Given the description of an element on the screen output the (x, y) to click on. 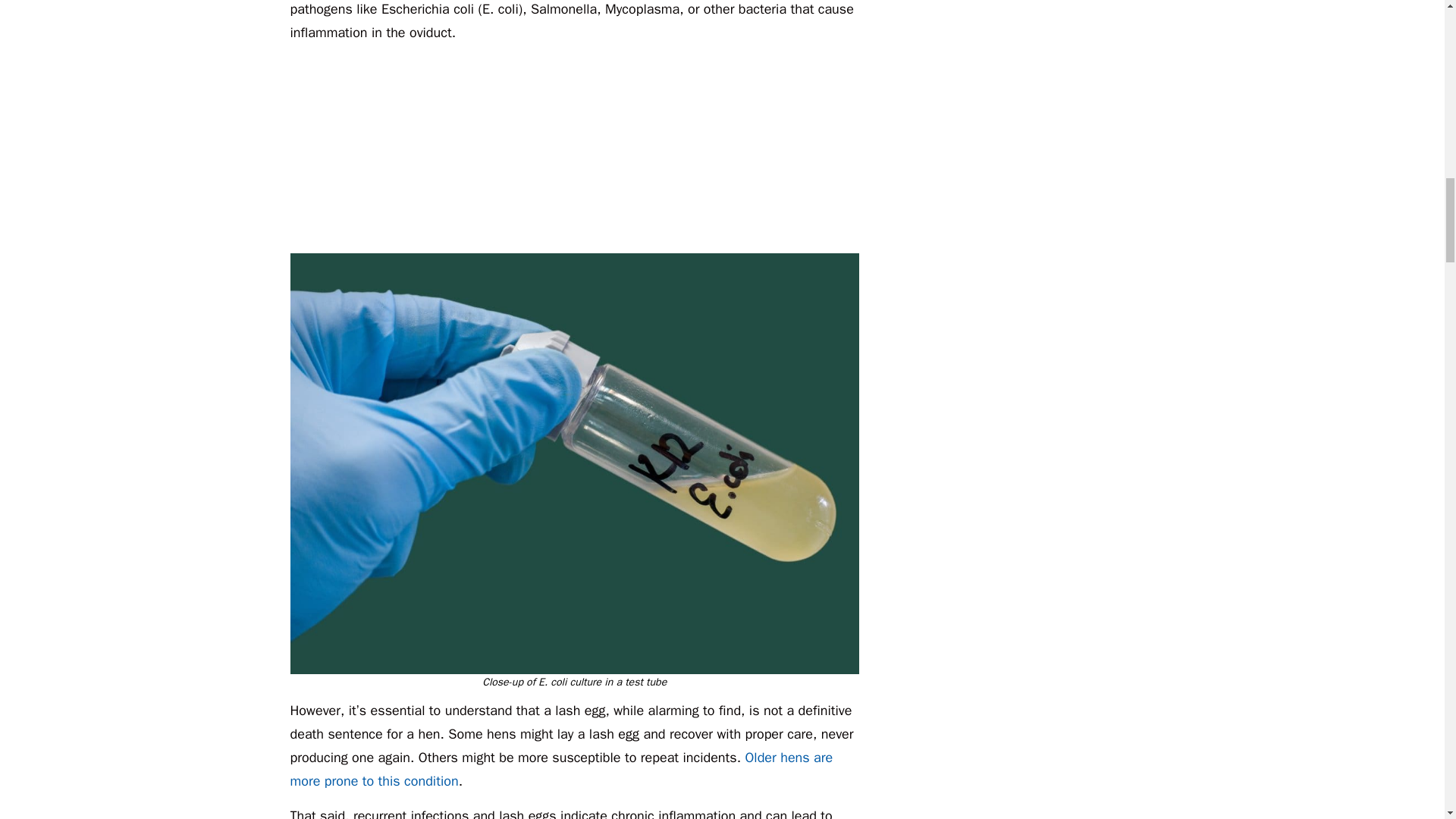
Older hens are more prone to this condition (560, 769)
